Given the description of an element on the screen output the (x, y) to click on. 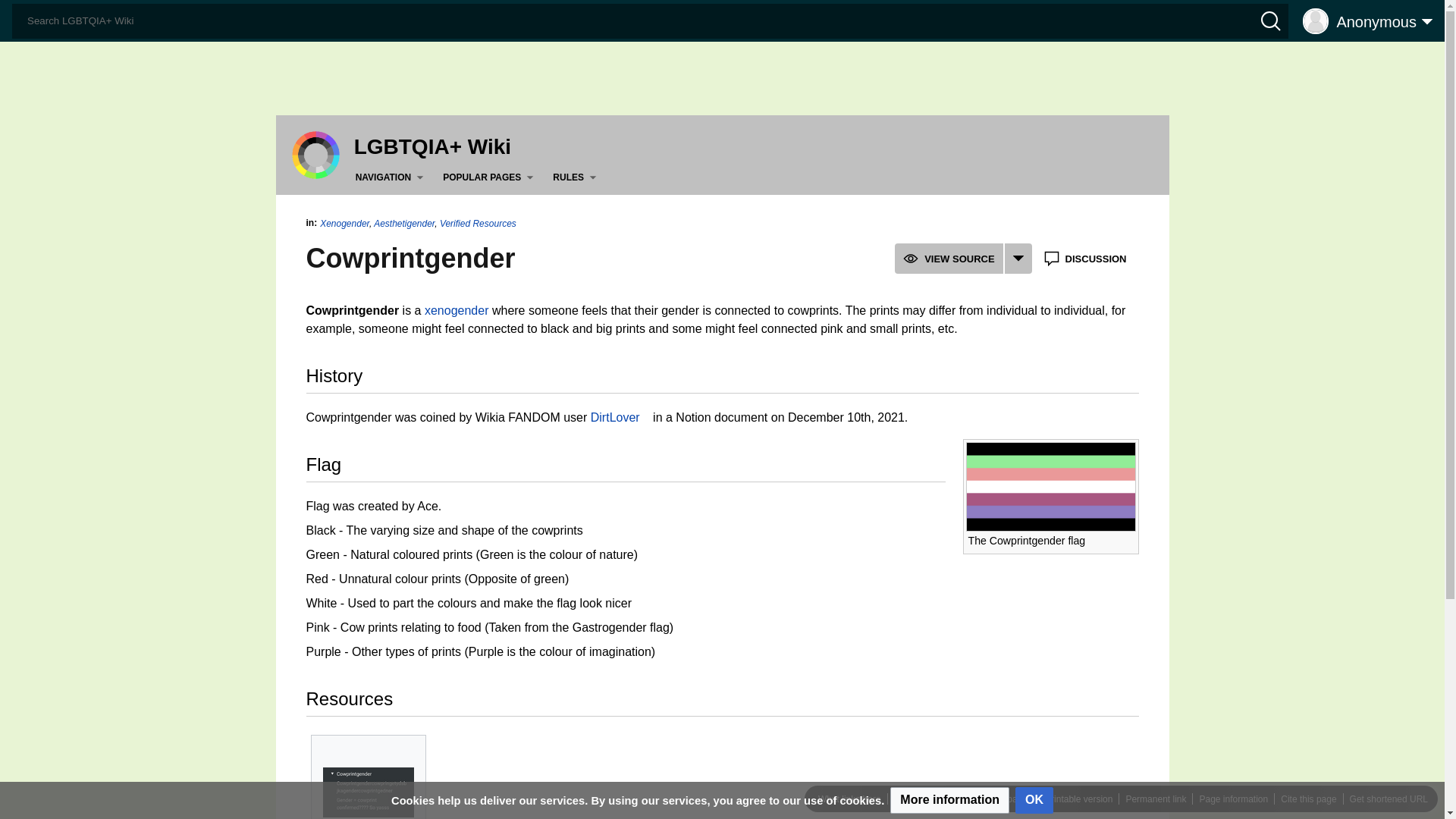
Visit the main page (315, 154)
POPULAR PAGES (490, 177)
Original document. (368, 792)
RULES (577, 177)
NAVIGATION (392, 177)
Xenogender (457, 309)
Go (16, 13)
